Given the description of an element on the screen output the (x, y) to click on. 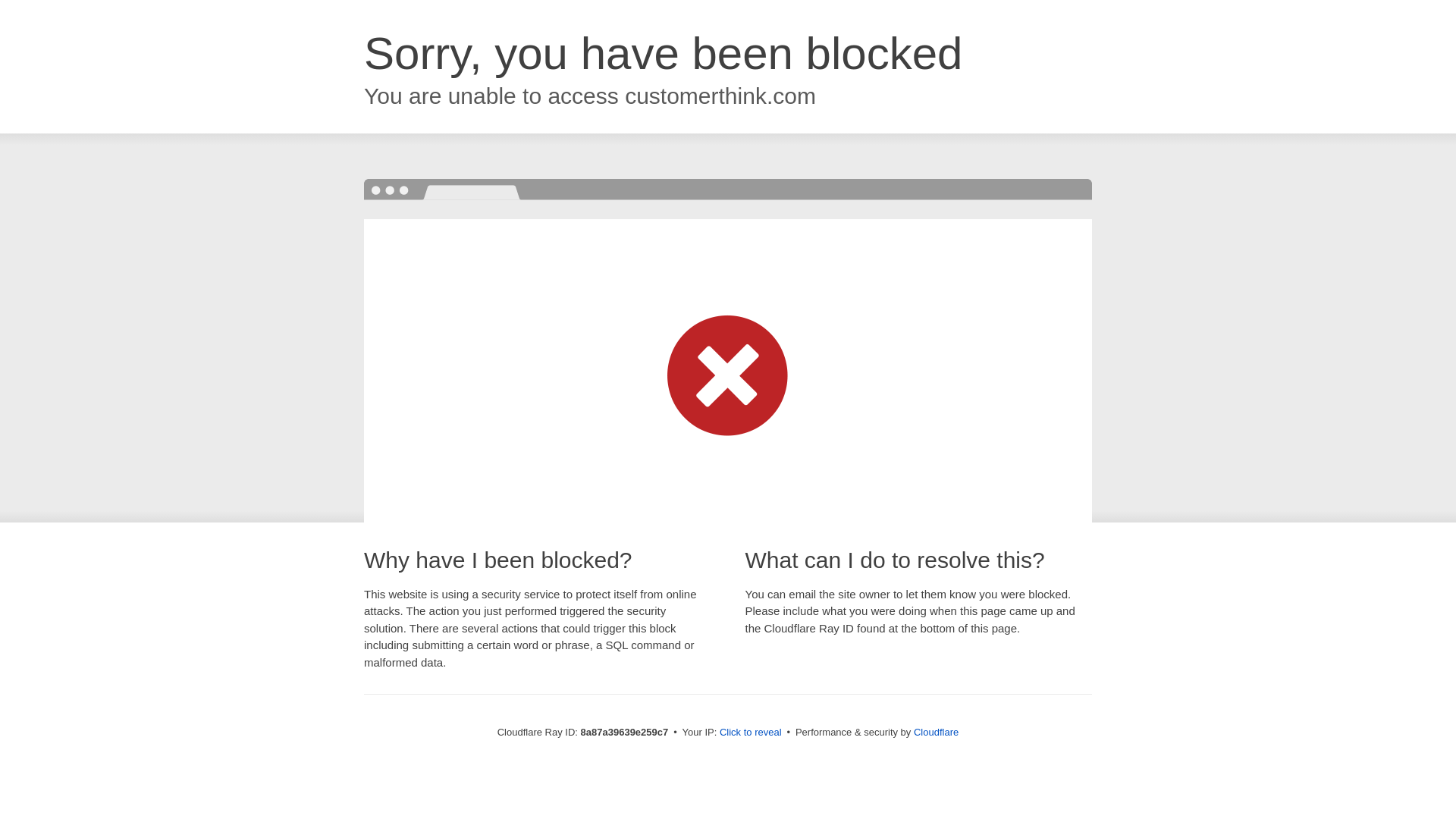
Cloudflare (936, 731)
Click to reveal (750, 732)
